Given the description of an element on the screen output the (x, y) to click on. 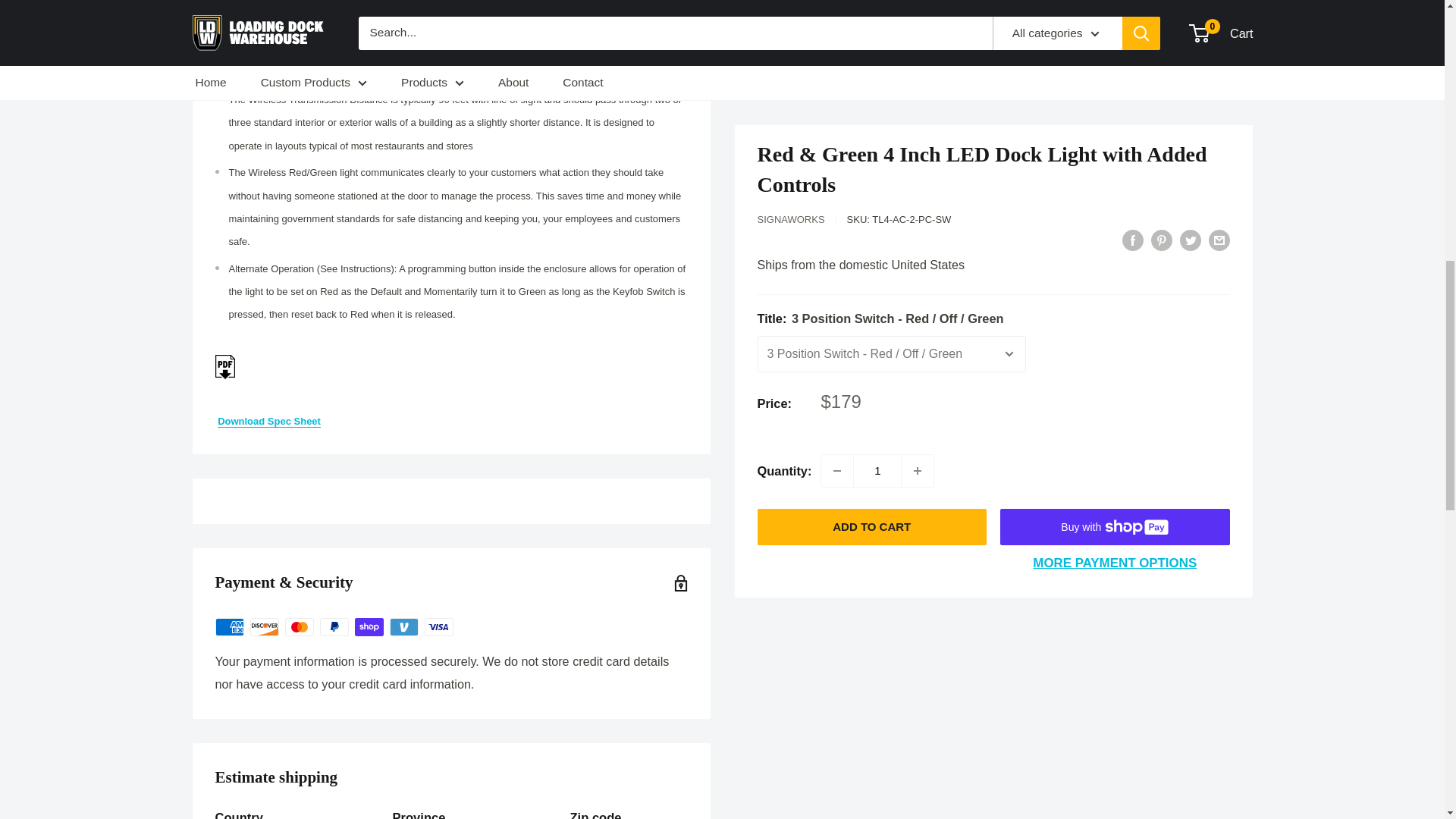
TL4 Spec Sheet (268, 420)
